Given the description of an element on the screen output the (x, y) to click on. 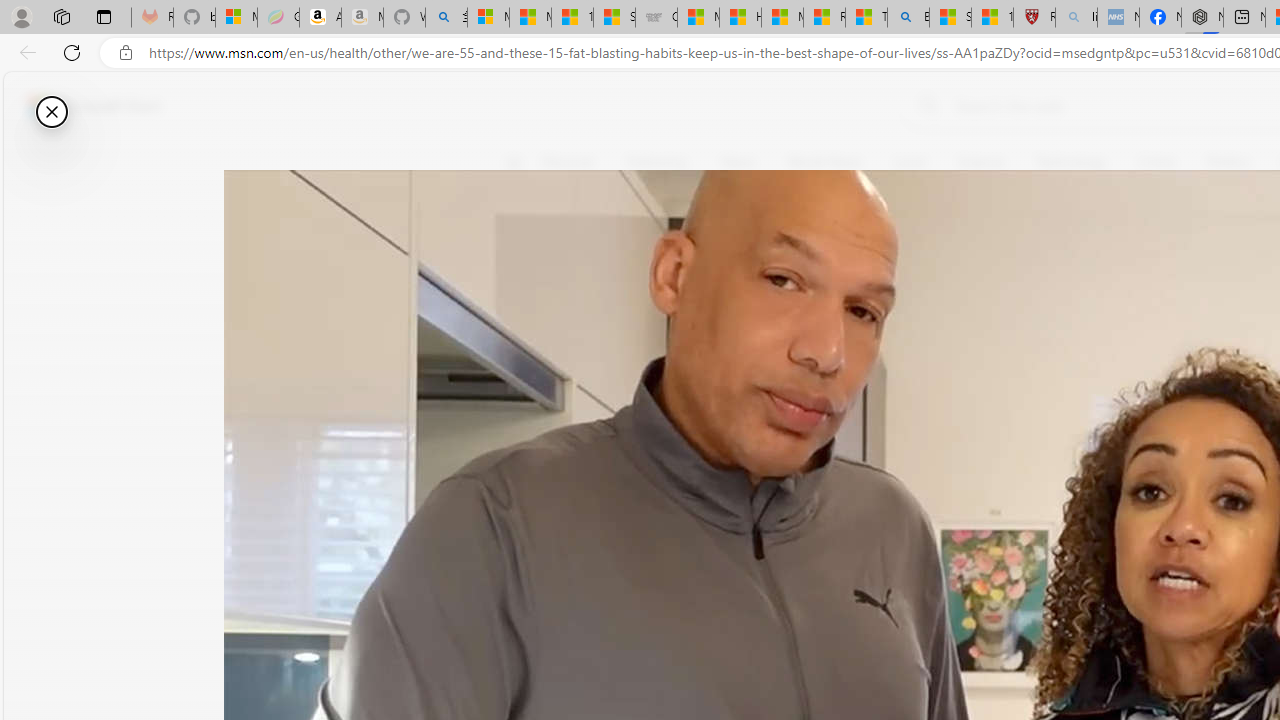
Bing (908, 17)
How I Got Rid of Microsoft Edge's Unnecessary Features (740, 17)
Politics (1227, 162)
Recipes - MSN (823, 17)
